Given the description of an element on the screen output the (x, y) to click on. 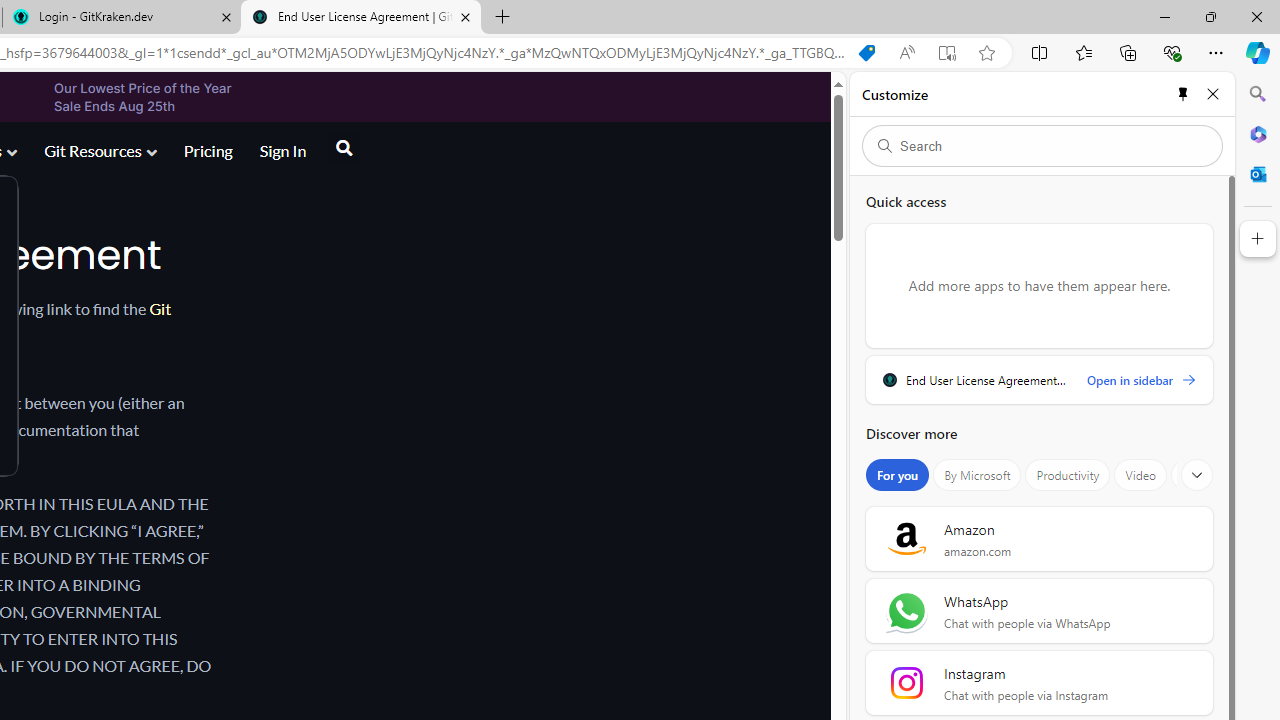
By Microsoft (977, 475)
Show more (1197, 475)
Sign In (282, 150)
End User License Agreement | GitKraken (360, 17)
